Given the description of an element on the screen output the (x, y) to click on. 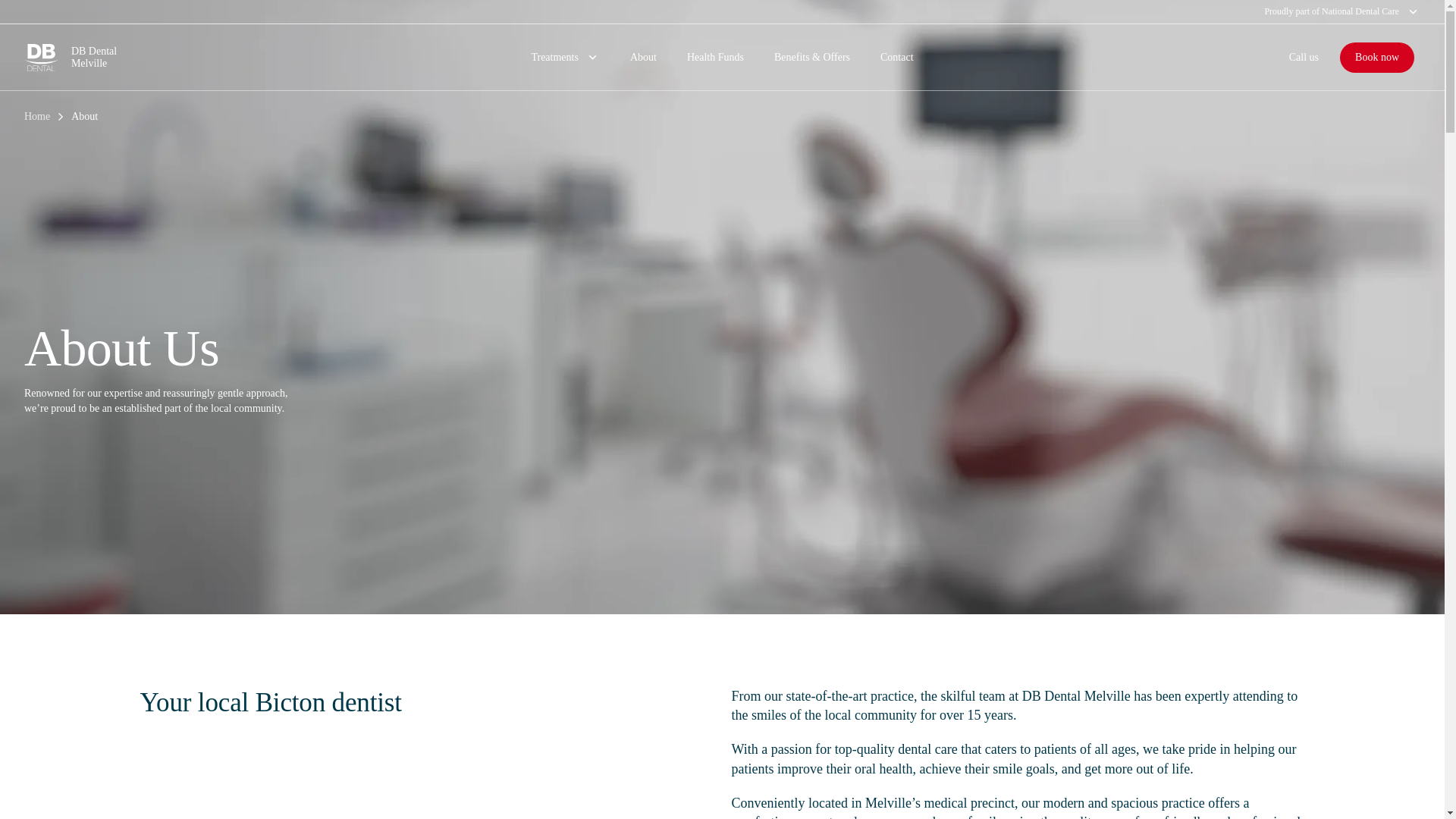
Contact (896, 57)
About (642, 57)
Home (36, 116)
Treatments (564, 57)
Health Funds (714, 57)
Proudly part of National Dental Care (191, 57)
Call us (722, 11)
Book now (1303, 57)
